Given the description of an element on the screen output the (x, y) to click on. 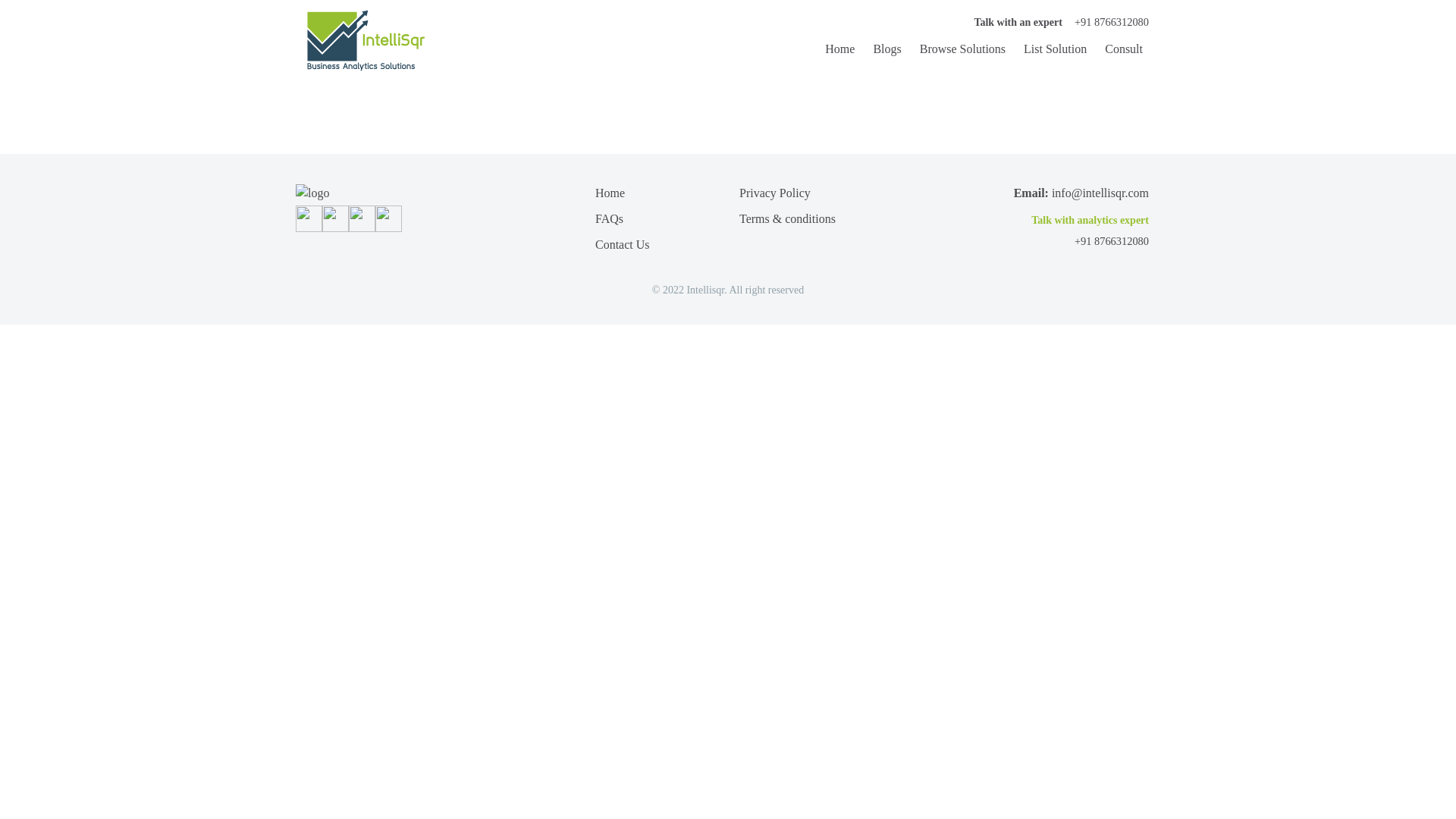
Consult (1120, 48)
Privacy Policy (774, 192)
Contact Us (622, 244)
Home (609, 192)
List Solution (1052, 48)
Browse Solutions (959, 48)
FAQs (609, 218)
Home (836, 48)
Blogs (883, 48)
